Given the description of an element on the screen output the (x, y) to click on. 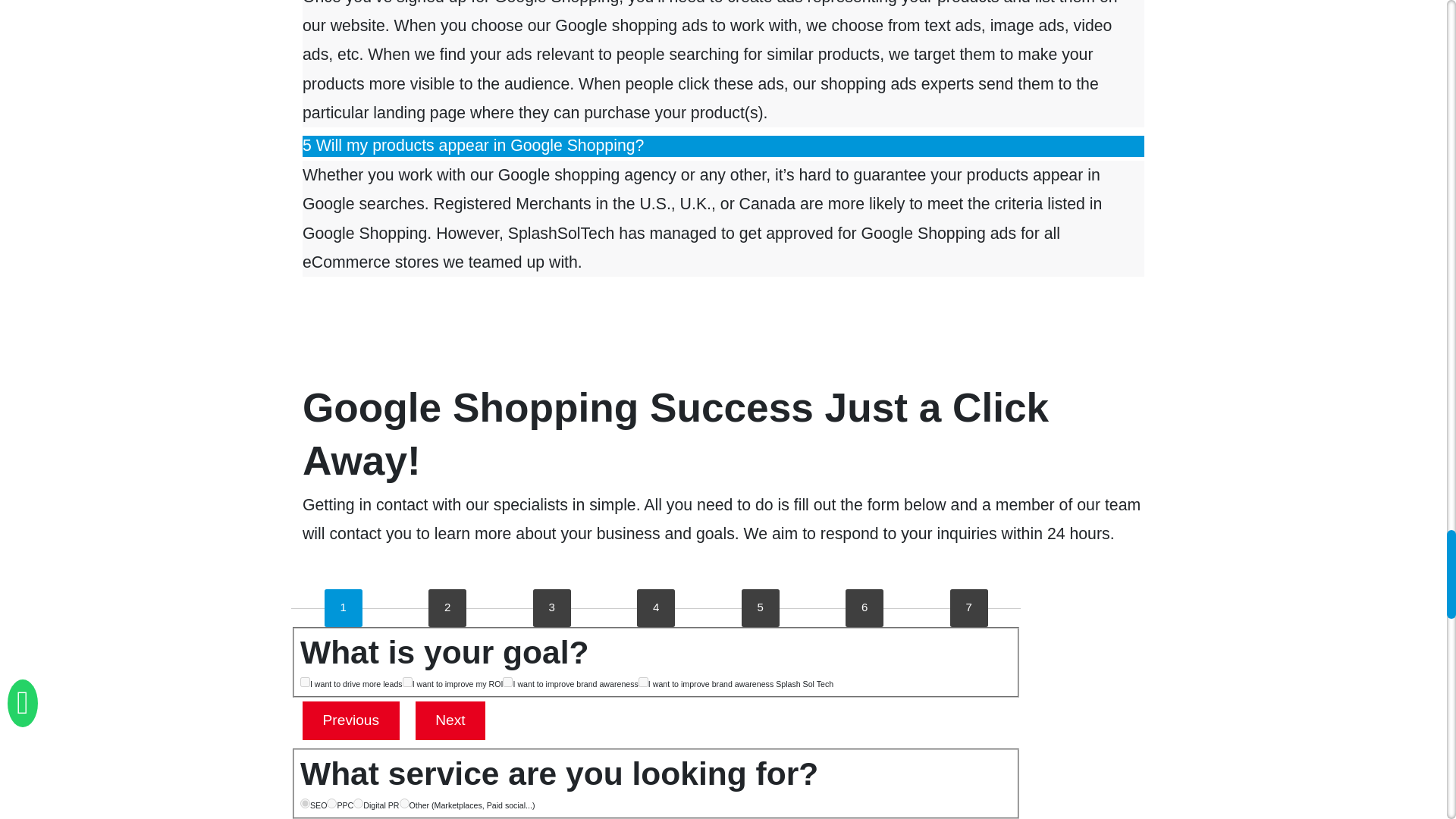
I want to drive more leads (304, 682)
I want to improve my ROI (407, 682)
PPC (331, 803)
I want to improve brand awareness Splash Sol Tech (643, 682)
Digital PR (357, 803)
SEO (304, 803)
I want to improve brand awareness (507, 682)
